Given the description of an element on the screen output the (x, y) to click on. 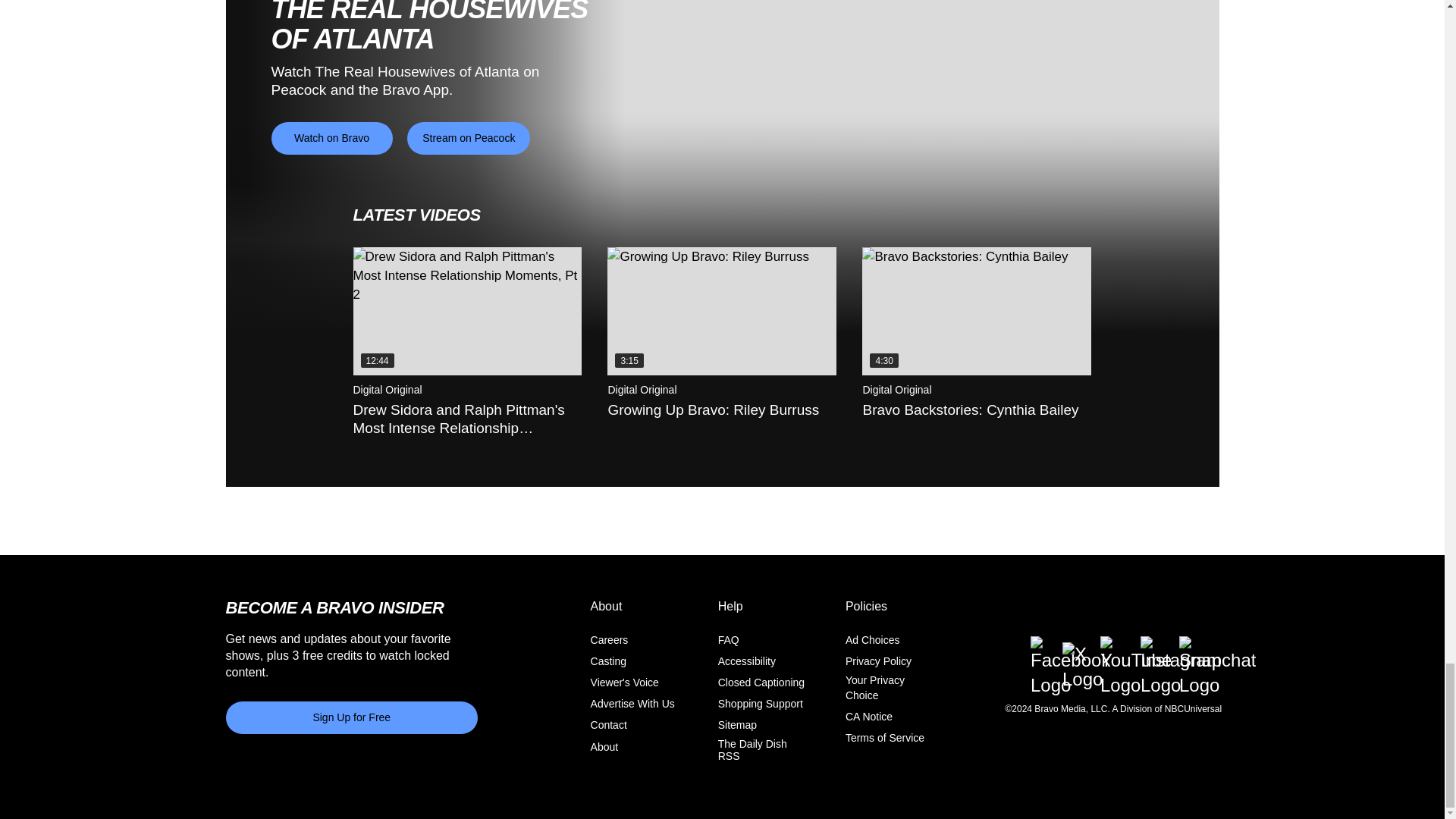
Growing Up Bravo: Riley Burruss (721, 311)
Advertise With Us (633, 704)
Bravo Backstories: Cynthia Bailey (975, 311)
